Given the description of an element on the screen output the (x, y) to click on. 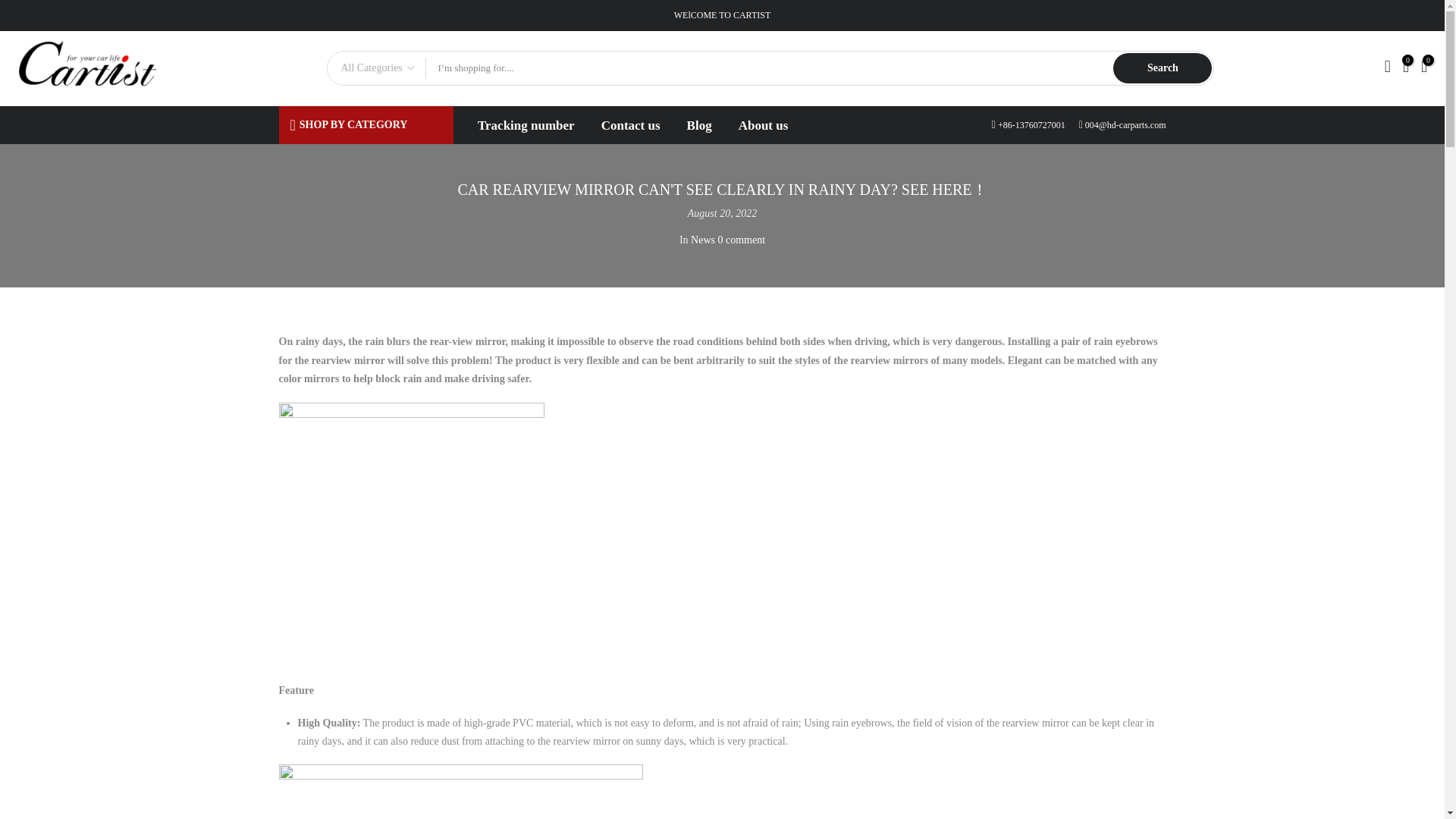
Search (1162, 68)
Blog (698, 125)
Tracking number (526, 125)
0 (1405, 68)
News (702, 238)
About us (763, 125)
0 comment (741, 238)
Contact us (630, 125)
